Given the description of an element on the screen output the (x, y) to click on. 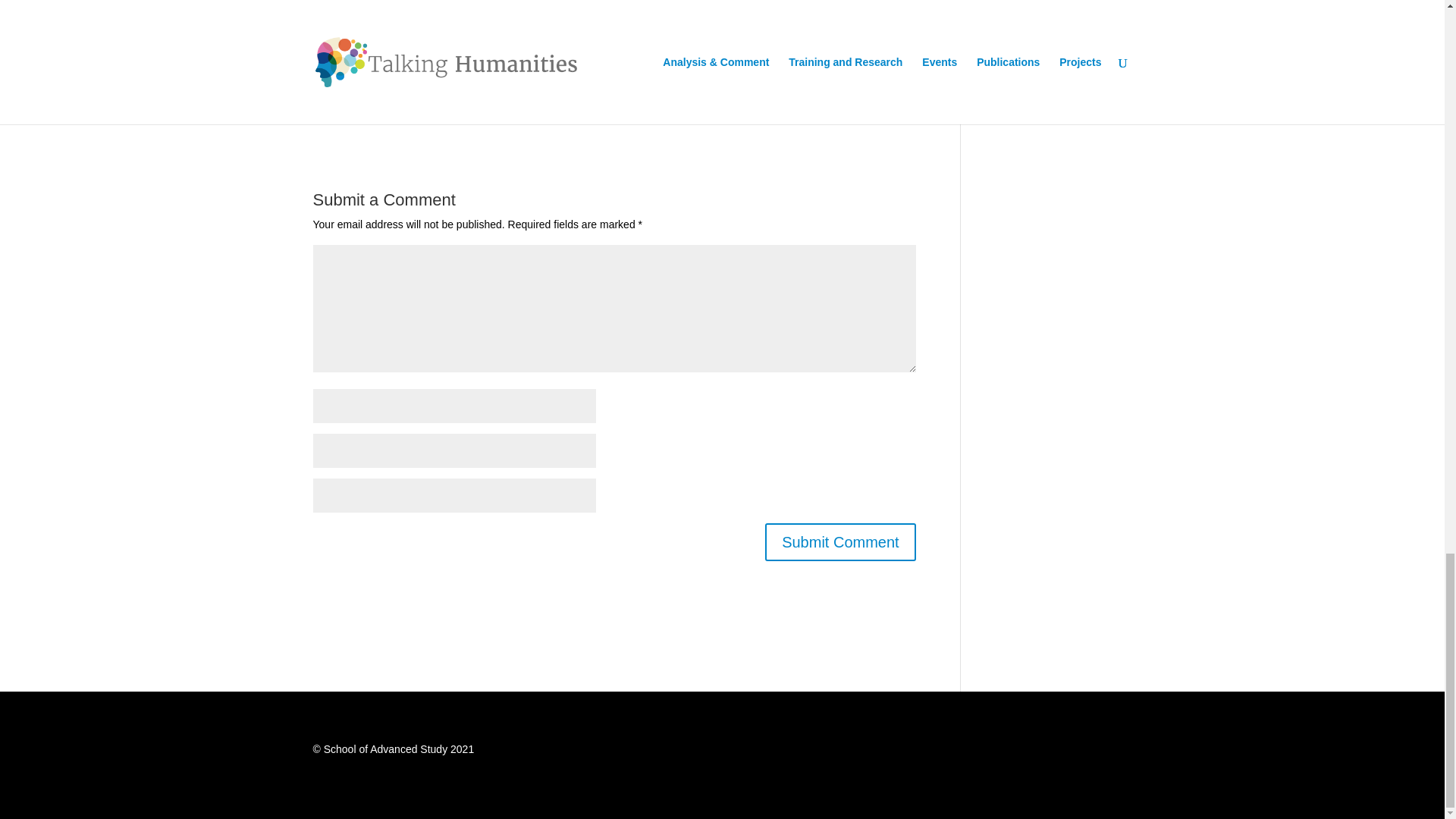
Submit Comment (840, 542)
History and legacy of the Ministry of Information (425, 47)
Orwell, 1984 and the Ministry of Information (415, 83)
Wartime propaganda that ran its own Cool Britannia (434, 65)
Submit Comment (840, 542)
